Given the description of an element on the screen output the (x, y) to click on. 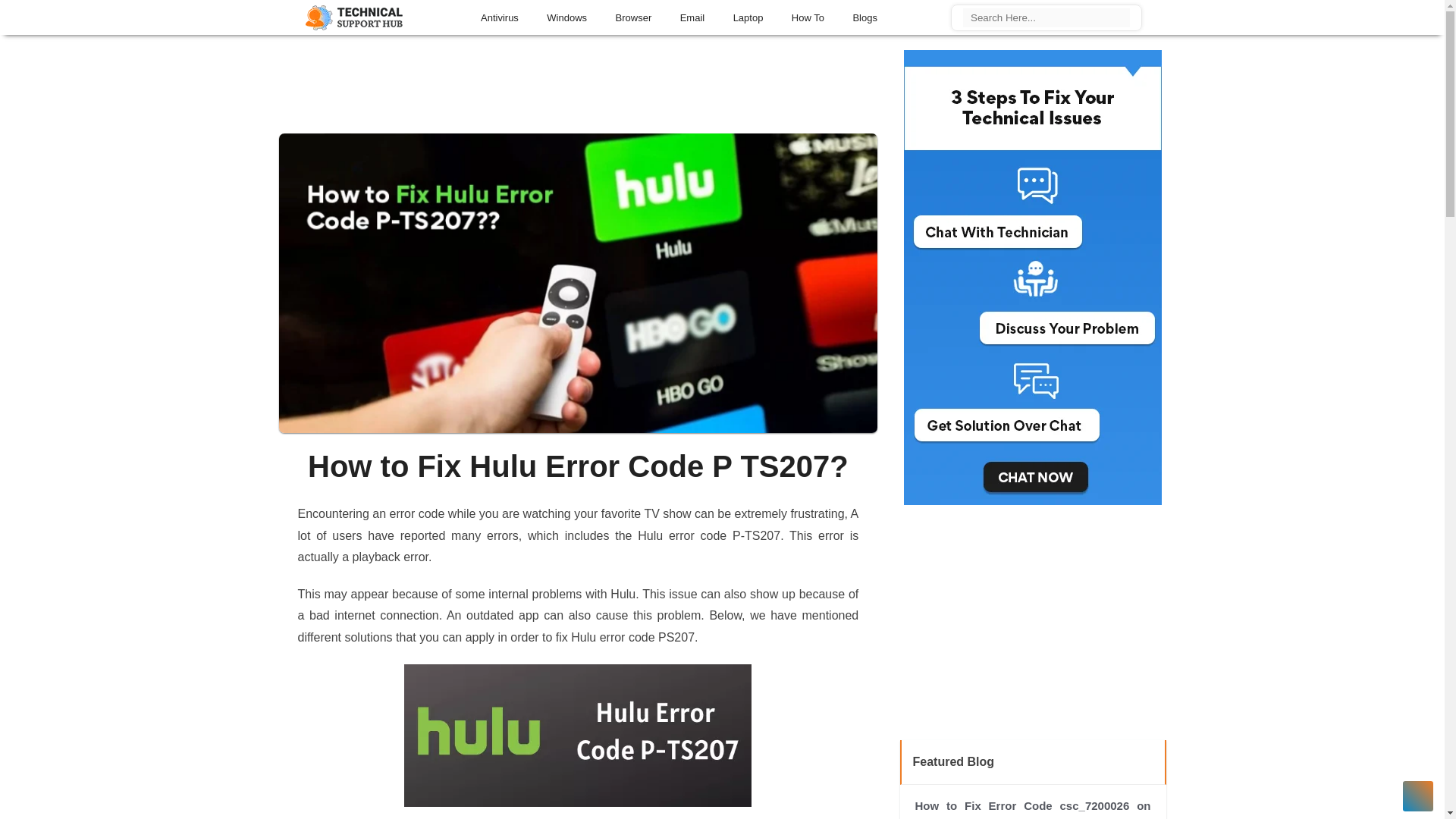
How To (808, 15)
Antivirus (500, 15)
Browser (634, 15)
How To (808, 15)
Blogs (864, 15)
Windows (567, 15)
Antivirus (500, 15)
Browser (634, 15)
Laptop (749, 15)
Windows (567, 15)
